Given the description of an element on the screen output the (x, y) to click on. 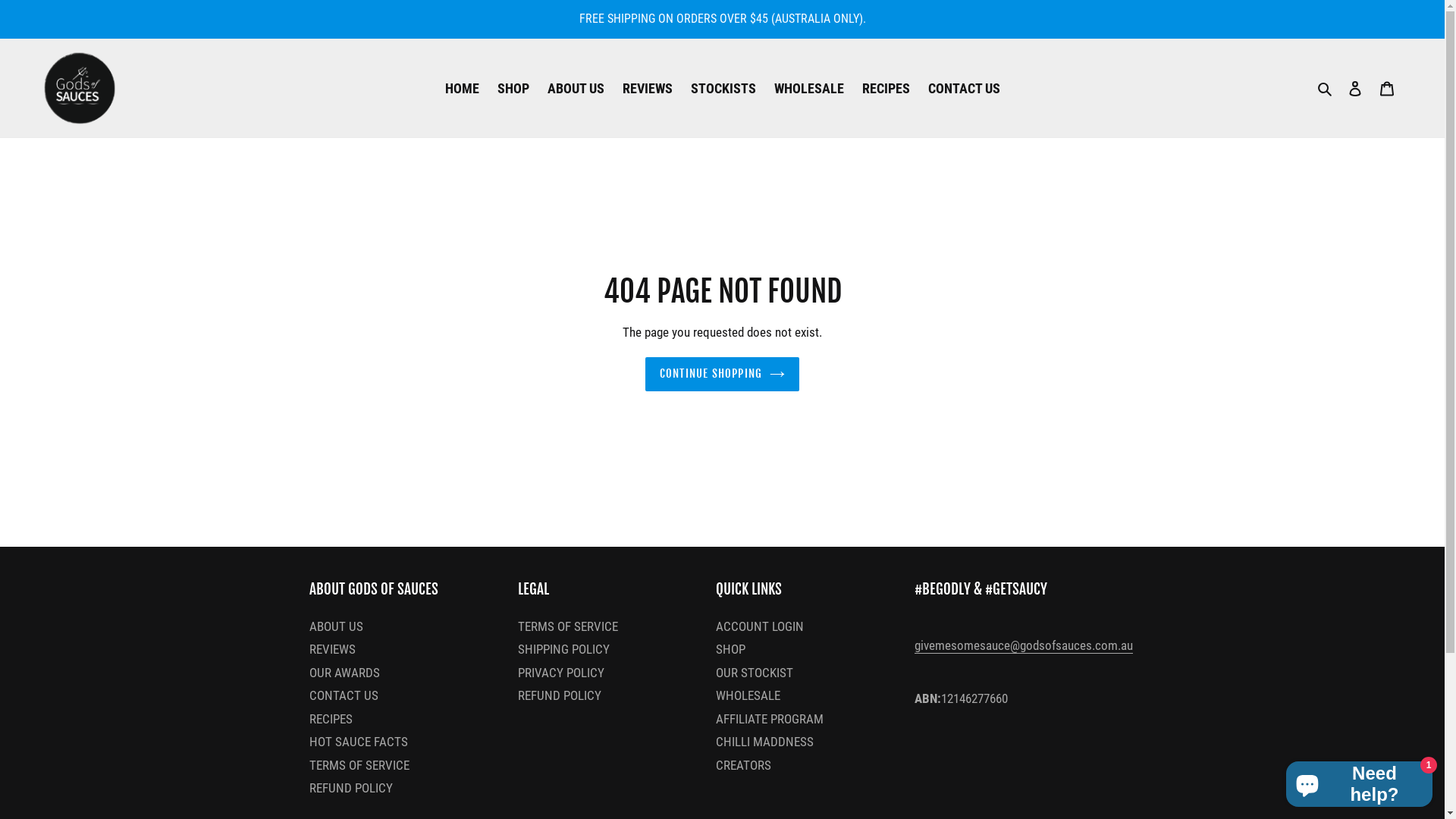
CHILLI MADDNESS Element type: text (764, 741)
TERMS OF SERVICE Element type: text (567, 625)
SHOP Element type: text (512, 87)
REFUND POLICY Element type: text (559, 694)
OUR AWARDS Element type: text (344, 672)
ABOUT US Element type: text (336, 625)
SHOP Element type: text (730, 648)
AFFILIATE PROGRAM Element type: text (769, 718)
Search Element type: text (1325, 87)
Log in Element type: text (1355, 87)
WHOLESALE Element type: text (807, 87)
SHIPPING POLICY Element type: text (563, 648)
Cart Element type: text (1386, 87)
CONTACT US Element type: text (963, 87)
REFUND POLICY Element type: text (350, 787)
RECIPES Element type: text (330, 718)
givemesomesauce@godsofsauces.com.au Element type: text (1023, 645)
ABOUT US Element type: text (575, 87)
OUR STOCKIST Element type: text (754, 672)
ACCOUNT LOGIN Element type: text (759, 625)
CONTINUE SHOPPING Element type: text (722, 374)
STOCKISTS Element type: text (722, 87)
PRIVACY POLICY Element type: text (560, 672)
REVIEWS Element type: text (646, 87)
CREATORS Element type: text (743, 764)
CONTACT US Element type: text (343, 694)
HOT SAUCE FACTS Element type: text (358, 741)
HOME Element type: text (461, 87)
WHOLESALE Element type: text (747, 694)
REVIEWS Element type: text (332, 648)
Shopify online store chat Element type: hover (1359, 780)
RECIPES Element type: text (884, 87)
TERMS OF SERVICE Element type: text (359, 764)
